Given the description of an element on the screen output the (x, y) to click on. 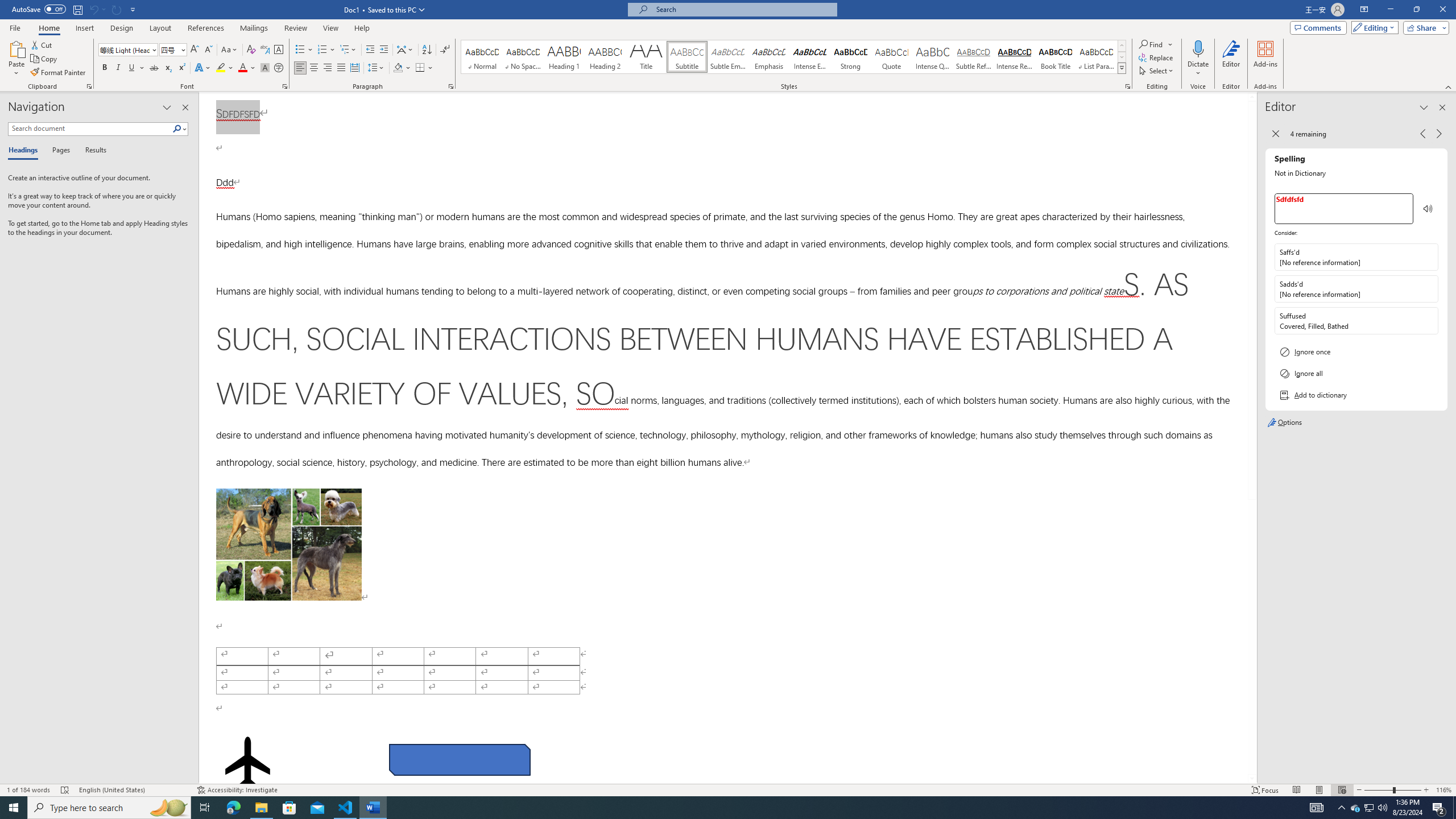
Shrink Font (208, 49)
Line and Paragraph Spacing (376, 67)
Can't Repeat (117, 9)
Justify (340, 67)
Align Left (300, 67)
Pages (59, 150)
View (330, 28)
Superscript (180, 67)
Results (91, 150)
Font (128, 49)
